Given the description of an element on the screen output the (x, y) to click on. 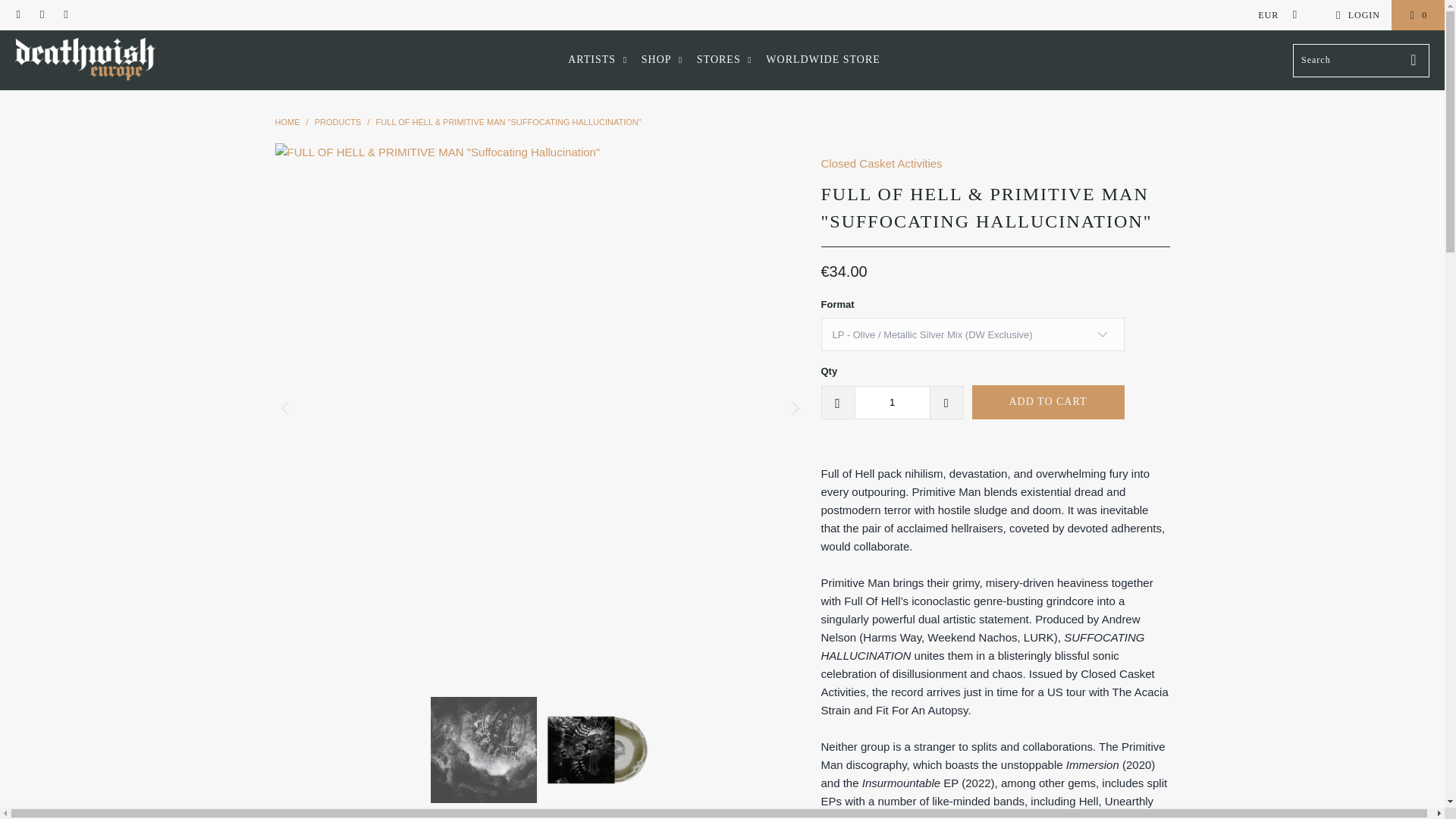
Deathwish Inc Europe on Twitter (17, 14)
Deathwish Inc Europe on Instagram (65, 14)
Deathwish Inc Europe on Facebook (41, 14)
Products (337, 121)
1 (891, 402)
My Account  (1355, 14)
Deathwish Inc Europe (84, 59)
Deathwish Inc Europe (287, 121)
